Given the description of an element on the screen output the (x, y) to click on. 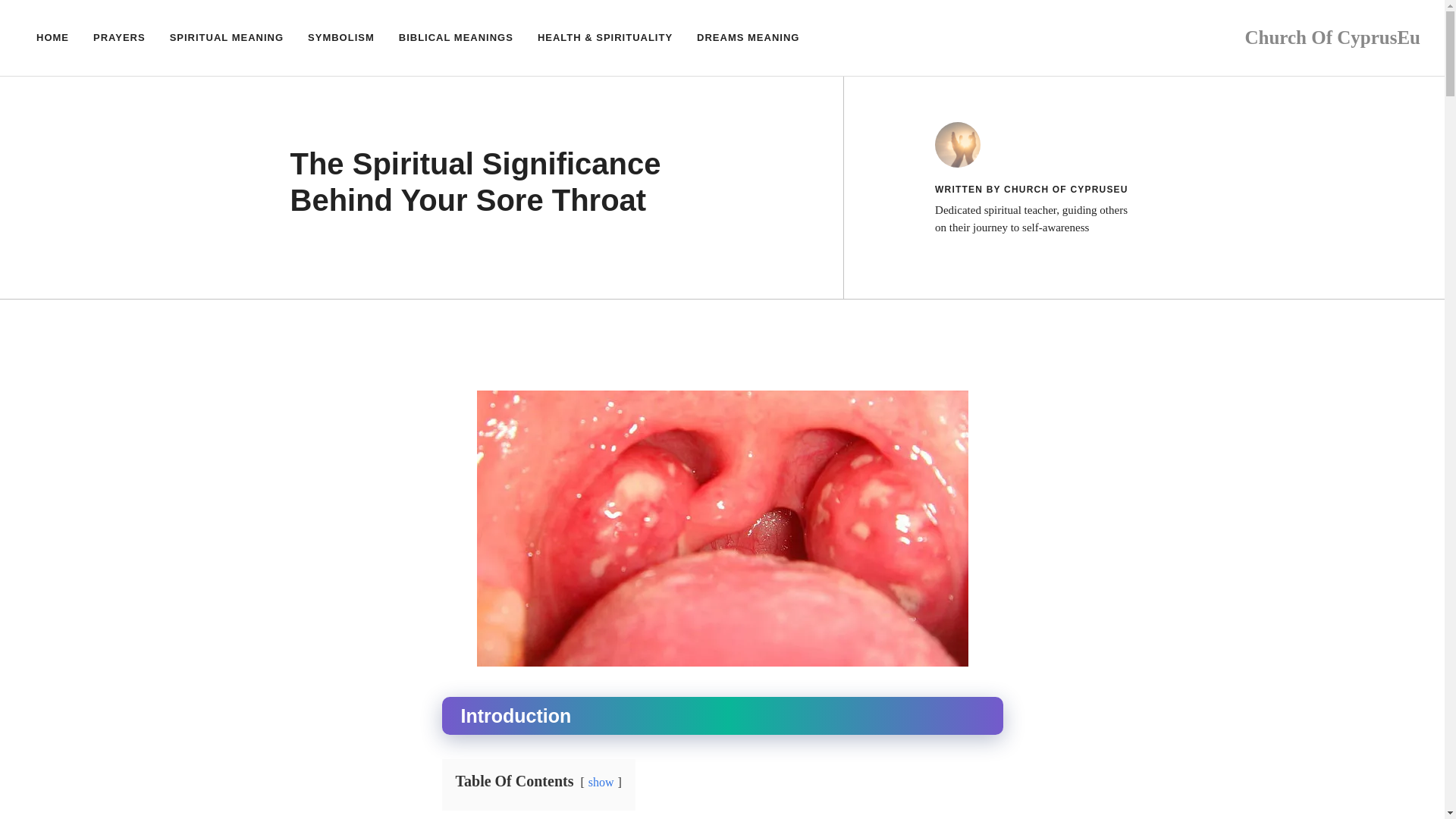
HOME (52, 37)
Church Of CyprusEu (1332, 37)
PRAYERS (119, 37)
BIBLICAL MEANINGS (456, 37)
SPIRITUAL MEANING (226, 37)
DREAMS MEANING (747, 37)
SYMBOLISM (341, 37)
show (601, 780)
